Given the description of an element on the screen output the (x, y) to click on. 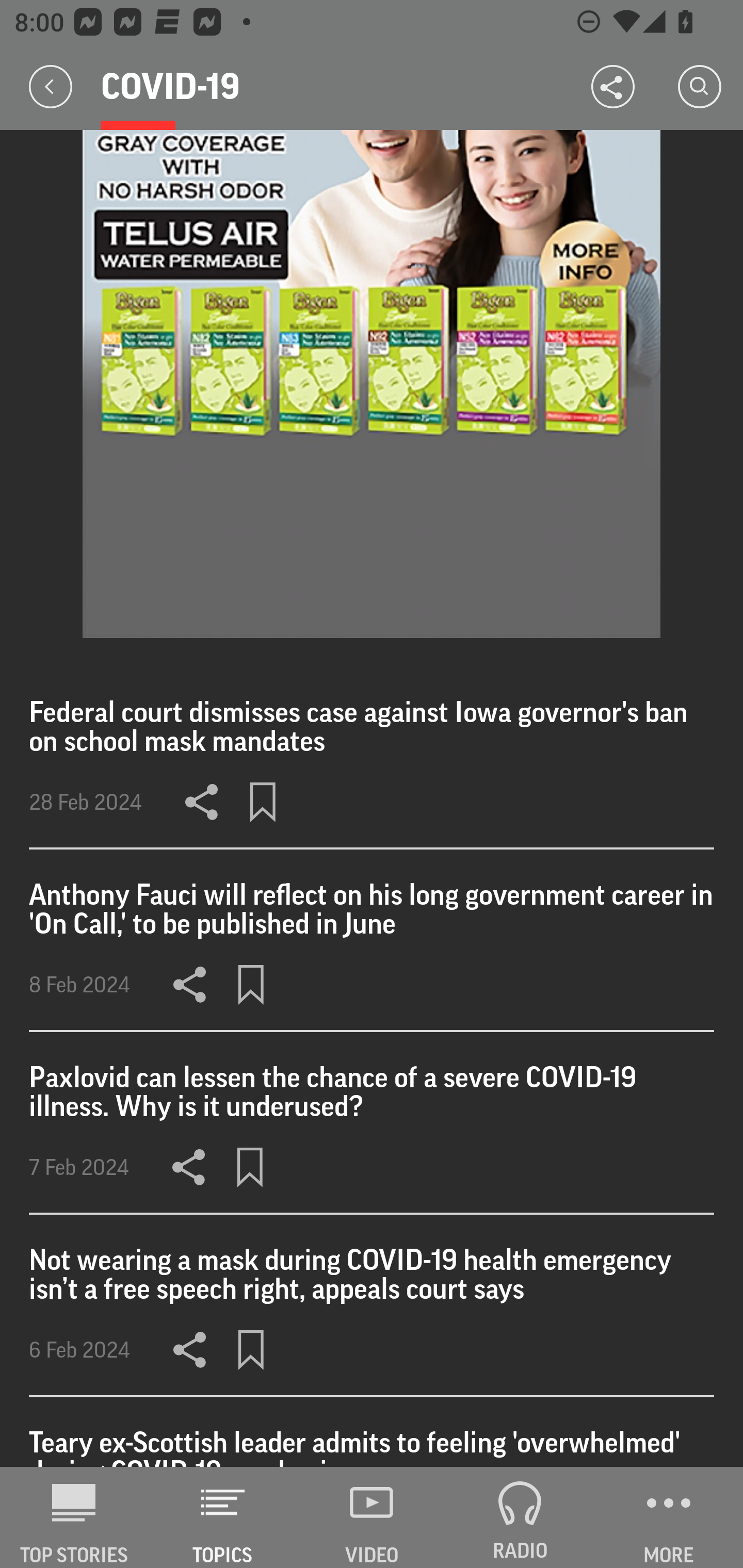
8 (371, 384)
AP News TOP STORIES (74, 1517)
TOPICS (222, 1517)
VIDEO (371, 1517)
RADIO (519, 1517)
MORE (668, 1517)
